Given the description of an element on the screen output the (x, y) to click on. 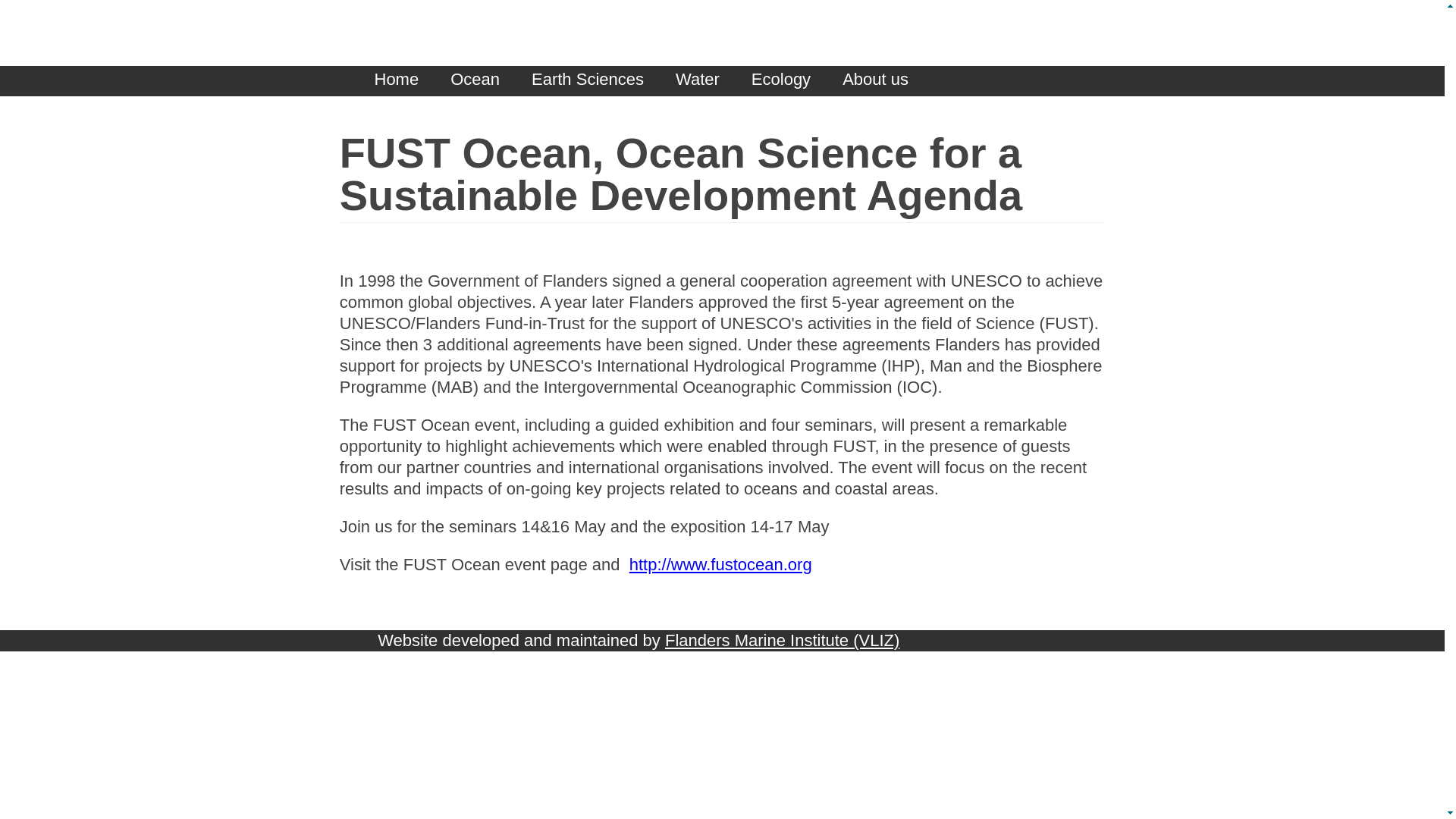
Ocean project (474, 79)
Home (395, 79)
ecology project (781, 79)
FUST (875, 79)
Ecology (781, 79)
Earth Sciences (587, 79)
Water (697, 79)
Ocean (474, 79)
water project (697, 79)
